Given the description of an element on the screen output the (x, y) to click on. 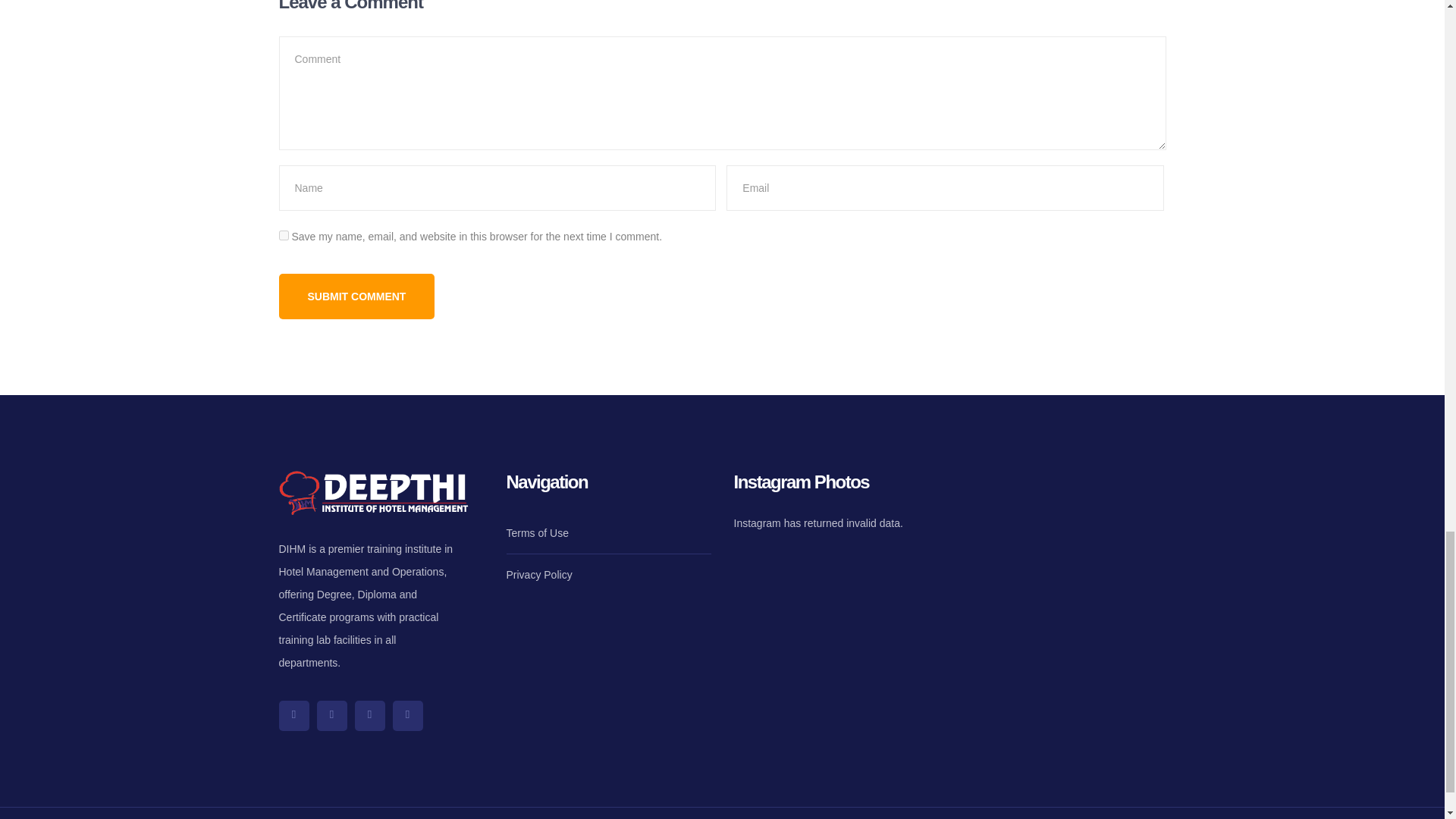
Deepthi Institute Of Hotel Management (1063, 528)
Submit Comment (357, 296)
facebook (332, 716)
twitter (293, 716)
Privacy Policy (539, 574)
youtube (408, 716)
instagram (370, 716)
Terms of Use (537, 532)
yes (283, 235)
Submit Comment (357, 296)
